Given the description of an element on the screen output the (x, y) to click on. 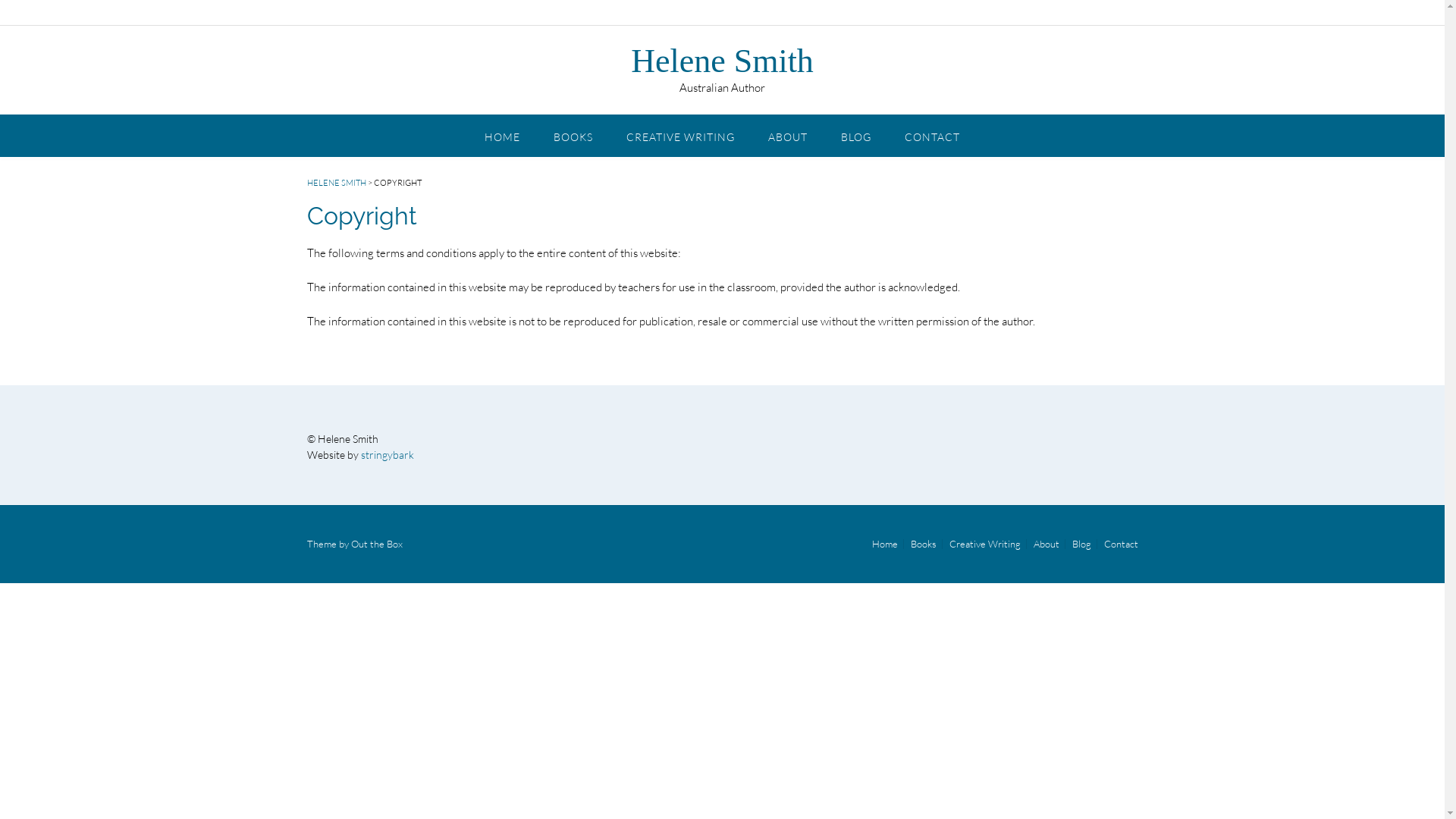
Blog Element type: text (1080, 544)
BLOG Element type: text (856, 134)
CREATIVE WRITING Element type: text (680, 134)
HELENE SMITH Element type: text (335, 182)
HOME Element type: text (501, 134)
Creative Writing Element type: text (984, 544)
Helene Smith Element type: text (721, 61)
Out the Box Element type: text (375, 543)
ABOUT Element type: text (787, 134)
CONTACT Element type: text (932, 134)
Contact Element type: text (1117, 544)
Books Element type: text (923, 544)
BOOKS Element type: text (572, 134)
stringybark Element type: text (387, 454)
Home Element type: text (884, 544)
About Element type: text (1046, 544)
